Given the description of an element on the screen output the (x, y) to click on. 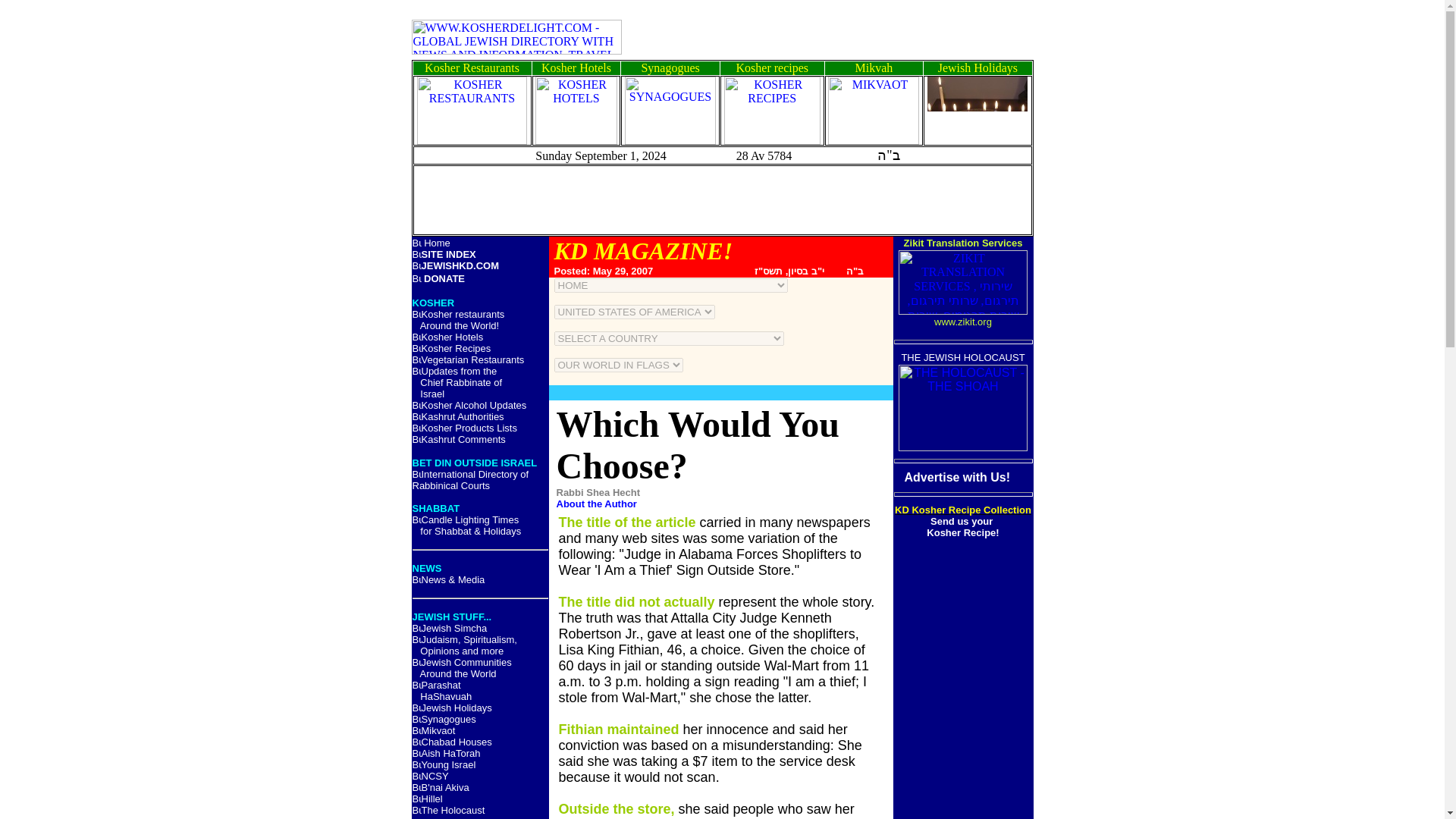
Kosher Recipes  (457, 348)
Mikvah (874, 67)
Jewish Holidays (977, 67)
DONATE (443, 277)
Jewish Simcha (454, 627)
Around the World! (459, 325)
JEWISHKD.COM (460, 265)
Kashrut Authorities (462, 416)
Kosher Hotels (576, 67)
Home (436, 242)
